Given the description of an element on the screen output the (x, y) to click on. 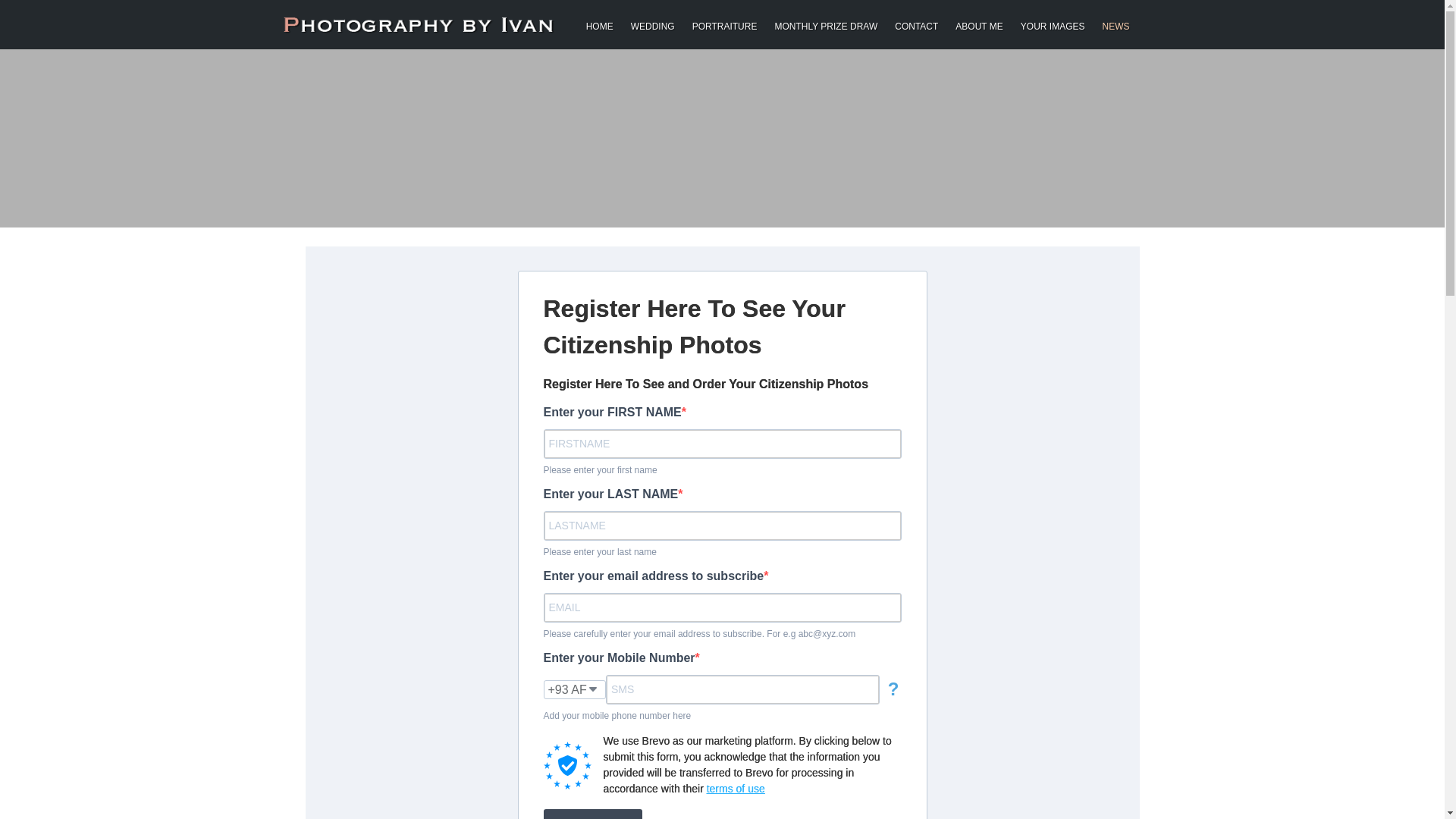
WEDDING (652, 24)
ABOUT ME (978, 24)
MONTHLY PRIZE DRAW (826, 24)
PORTRAITURE (724, 24)
SUBSCRIBE (592, 814)
YOUR IMAGES (1053, 24)
CONTACT (915, 24)
terms of use (735, 788)
